Given the description of an element on the screen output the (x, y) to click on. 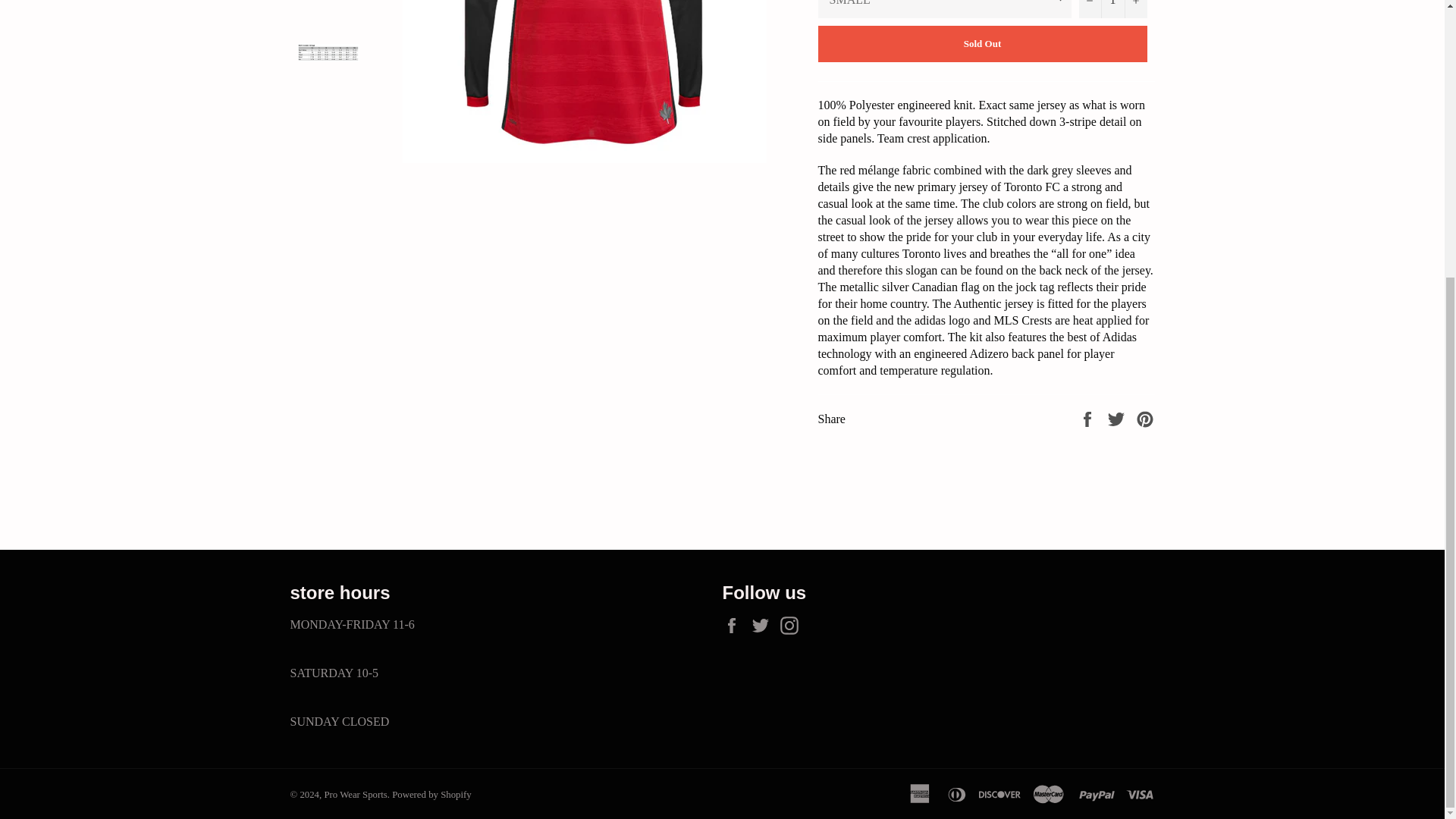
Pin on Pinterest (1144, 418)
Pro Wear Sports on Instagram (791, 625)
Pro Wear Sports on Facebook (735, 625)
1 (1112, 9)
Pro Wear Sports on Twitter (763, 625)
Share on Facebook (1088, 418)
Tweet on Twitter (1117, 418)
